Given the description of an element on the screen output the (x, y) to click on. 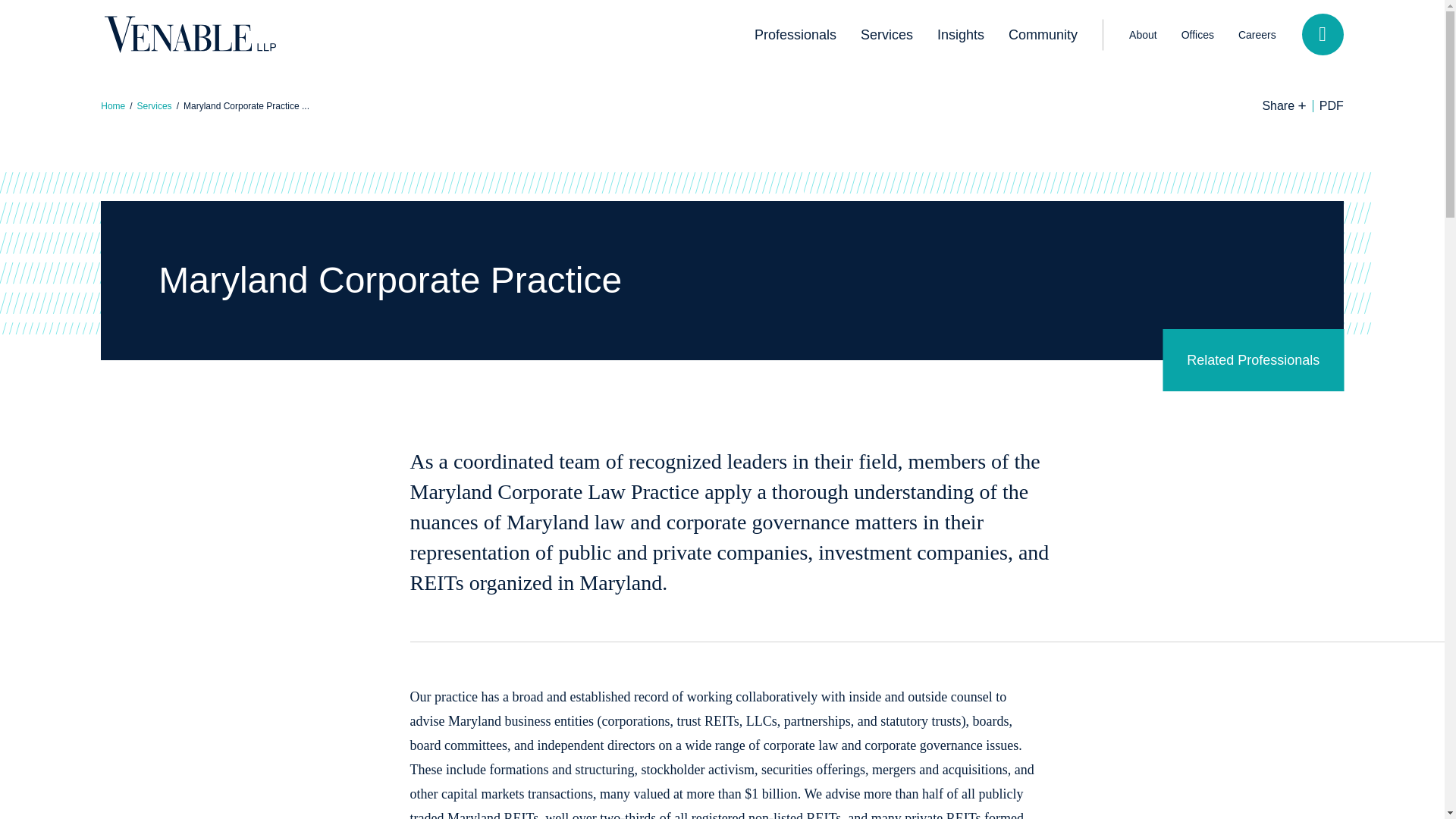
Careers (1256, 34)
About (1142, 34)
Related Professionals (1252, 360)
PDF (1331, 105)
Services (886, 34)
Professionals (795, 34)
Home (112, 105)
Offices (1197, 34)
Insights (959, 34)
Community (1042, 34)
Services (153, 105)
